Given the description of an element on the screen output the (x, y) to click on. 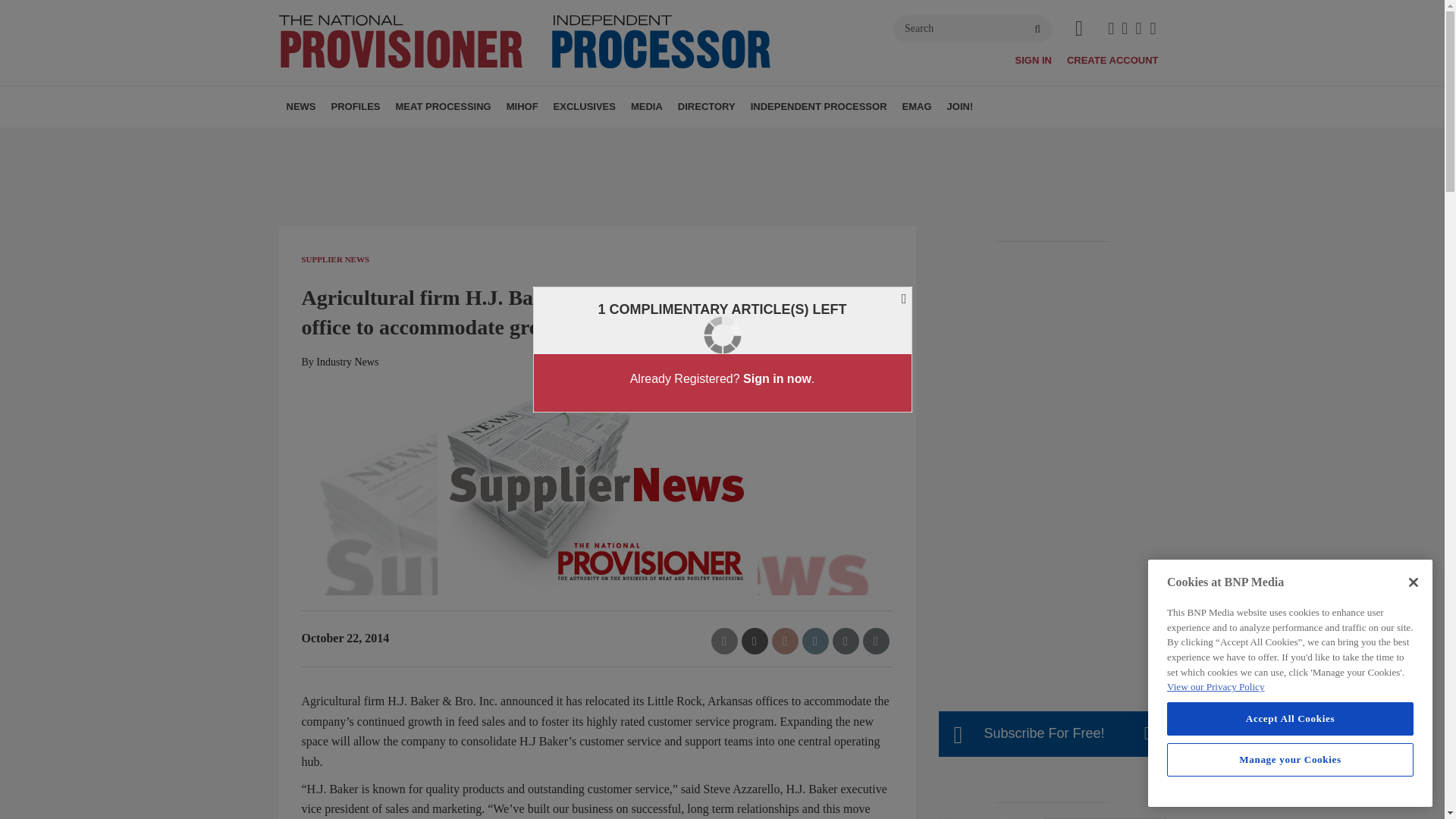
Search (972, 28)
Search (972, 28)
